Given the description of an element on the screen output the (x, y) to click on. 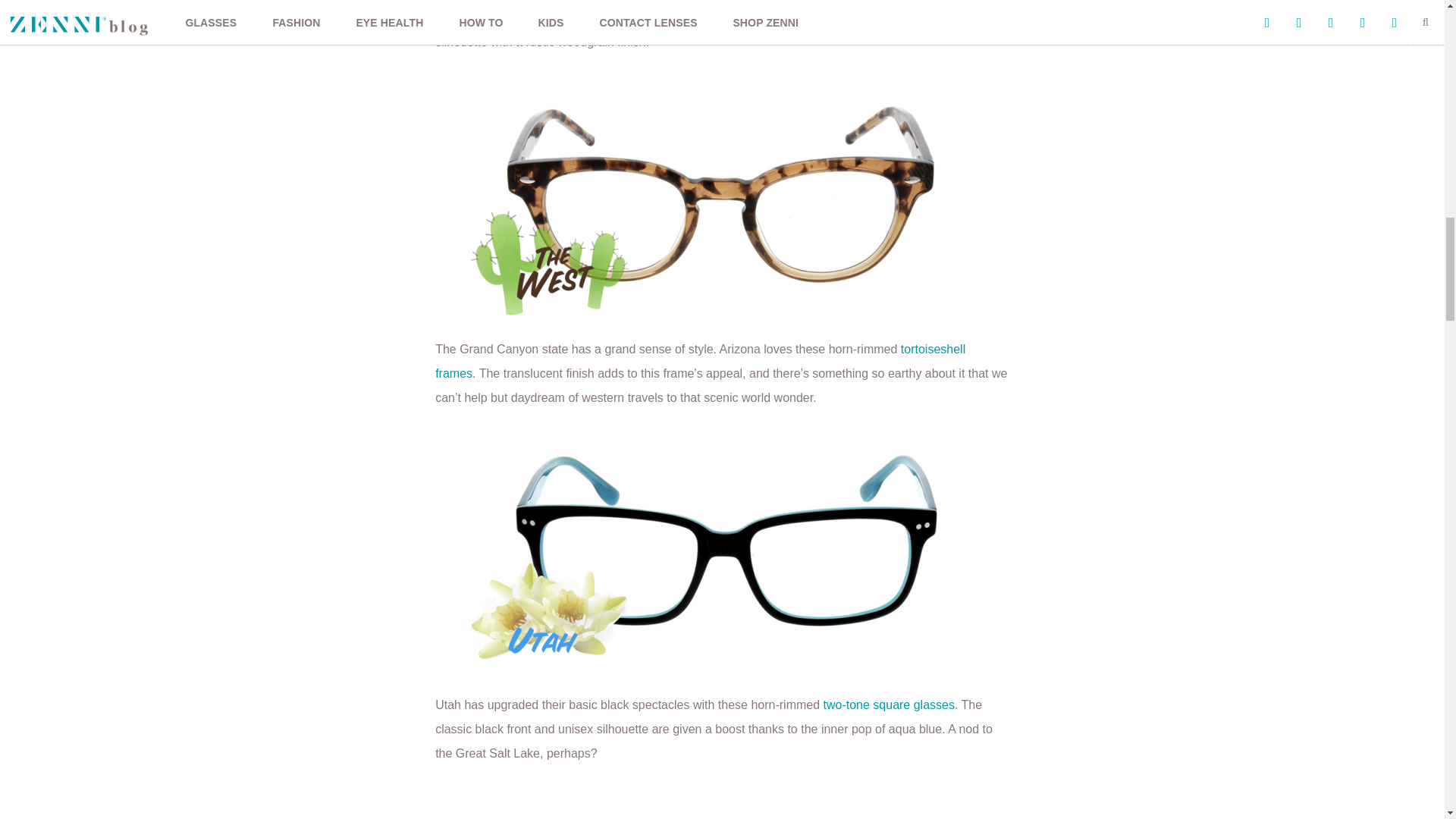
favorite frame (821, 17)
tortoiseshell frames (700, 361)
two-tone square glasses (889, 704)
